Given the description of an element on the screen output the (x, y) to click on. 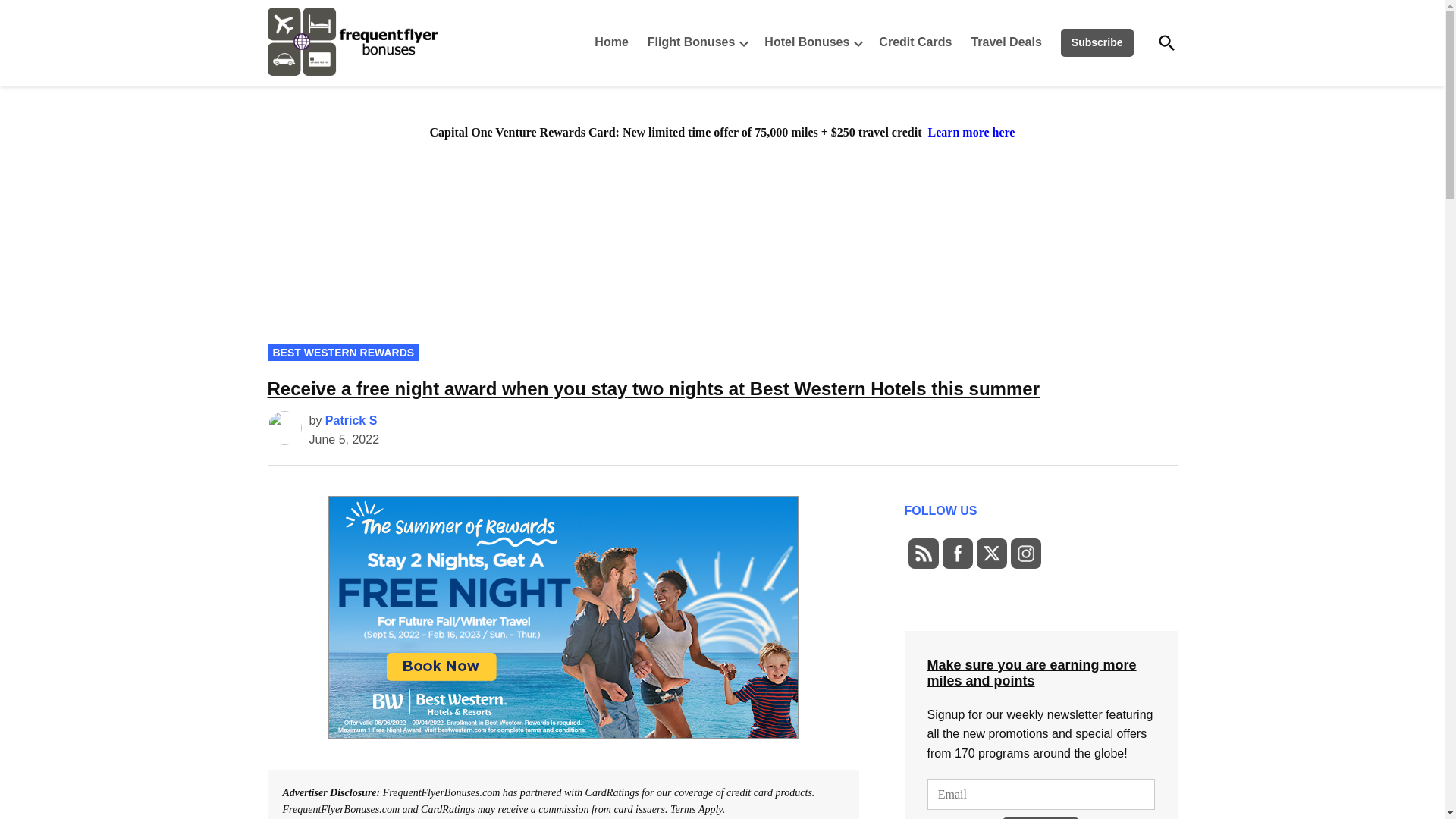
Frequent Flyer Bonuses (483, 74)
Open dropdown menu (857, 42)
Hotel Bonuses (802, 41)
Twitter (990, 553)
Flight Bonuses (687, 41)
Facebook (957, 553)
Home (614, 41)
RSS (922, 553)
Instagram (1025, 553)
Open dropdown menu (743, 42)
